Given the description of an element on the screen output the (x, y) to click on. 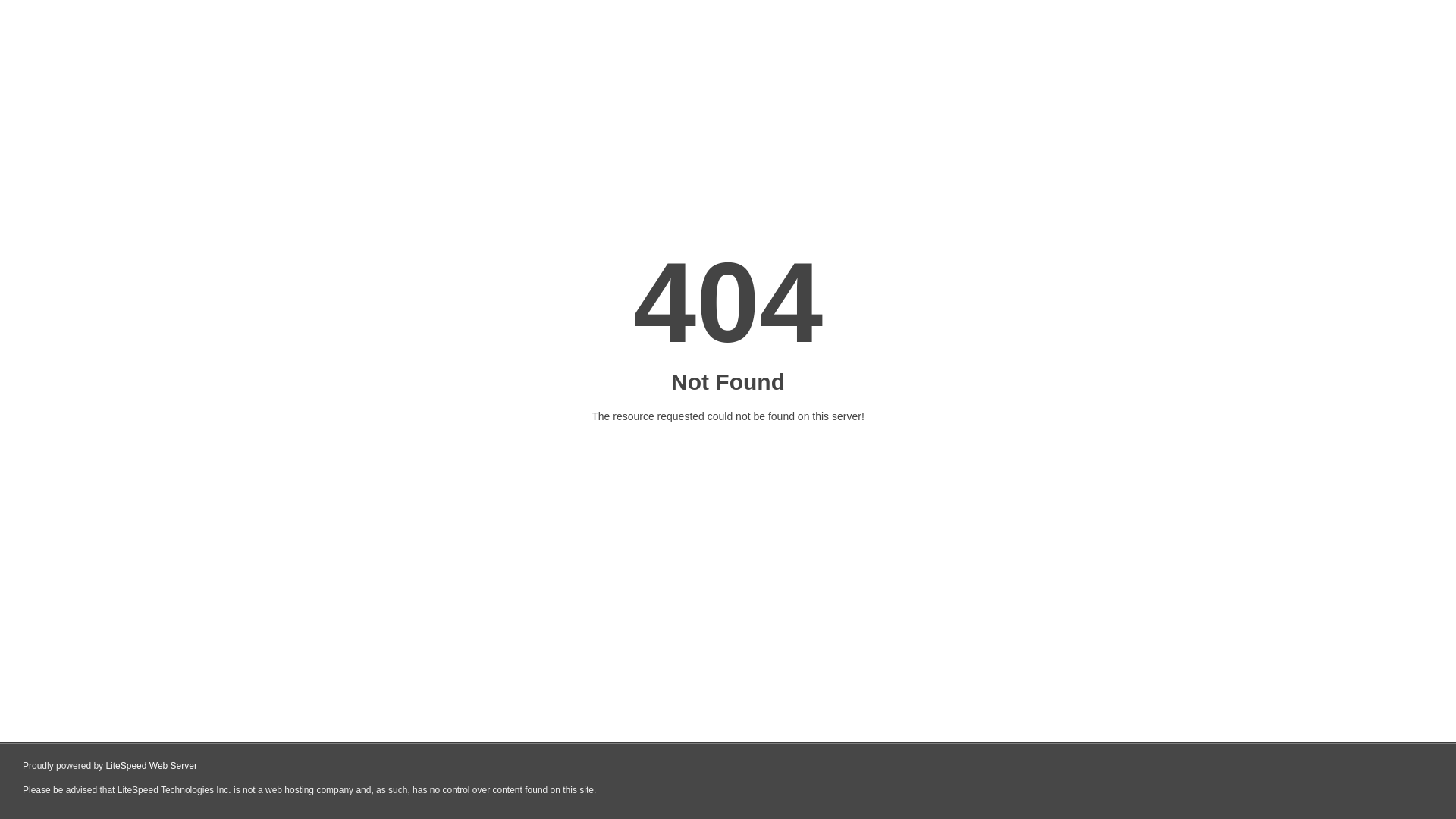
LiteSpeed Web Server Element type: text (151, 765)
